Given the description of an element on the screen output the (x, y) to click on. 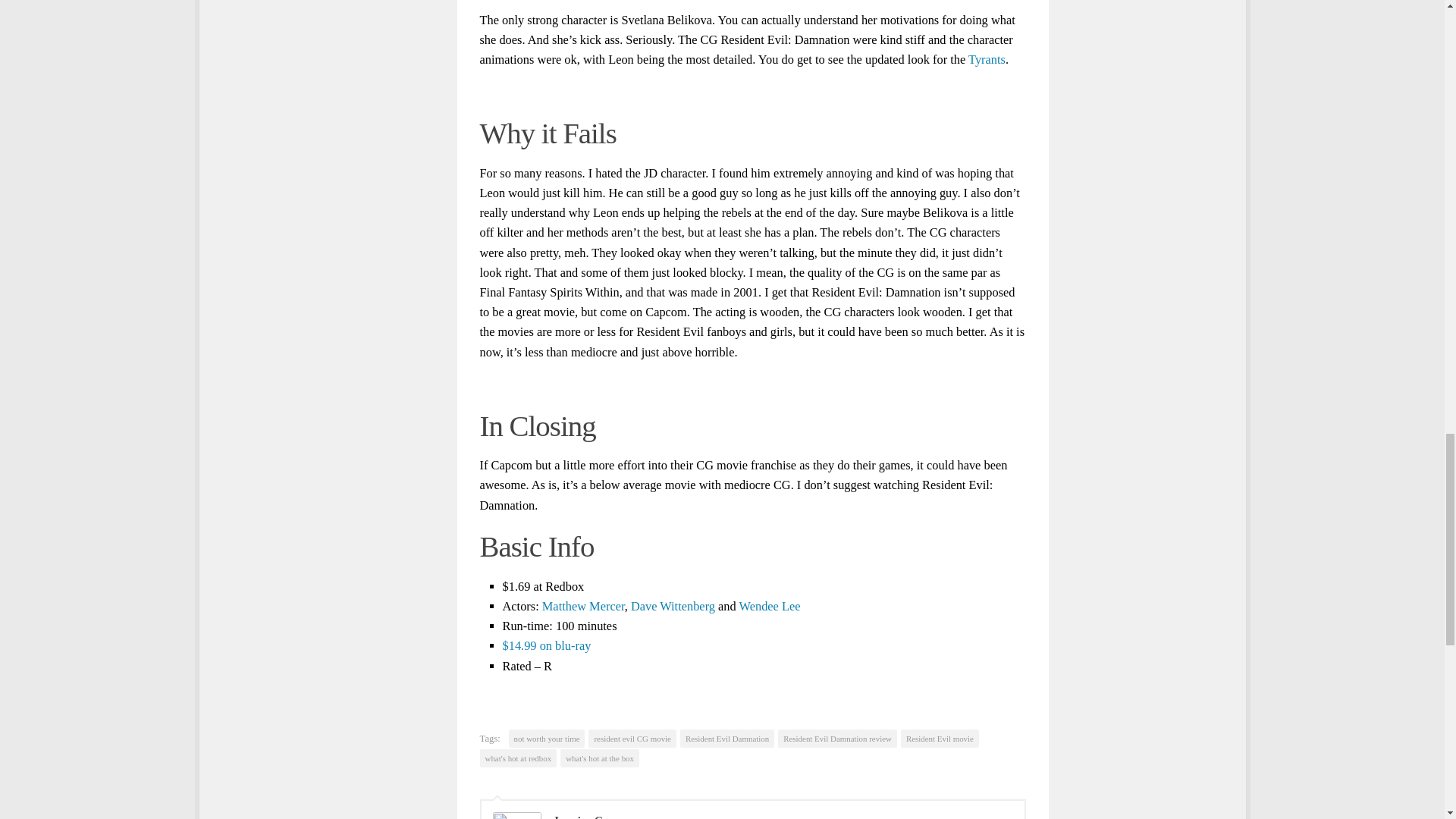
what's hot at the box (599, 758)
what's hot at redbox (517, 758)
Resident Evil Damnation (726, 738)
Matthew Mercer (582, 605)
not worth your time (546, 738)
Resident Evil movie (939, 738)
resident evil CG movie (631, 738)
Resident Evil Damnation review (836, 738)
Wendee Lee (769, 605)
Tyrants (987, 59)
